Given the description of an element on the screen output the (x, y) to click on. 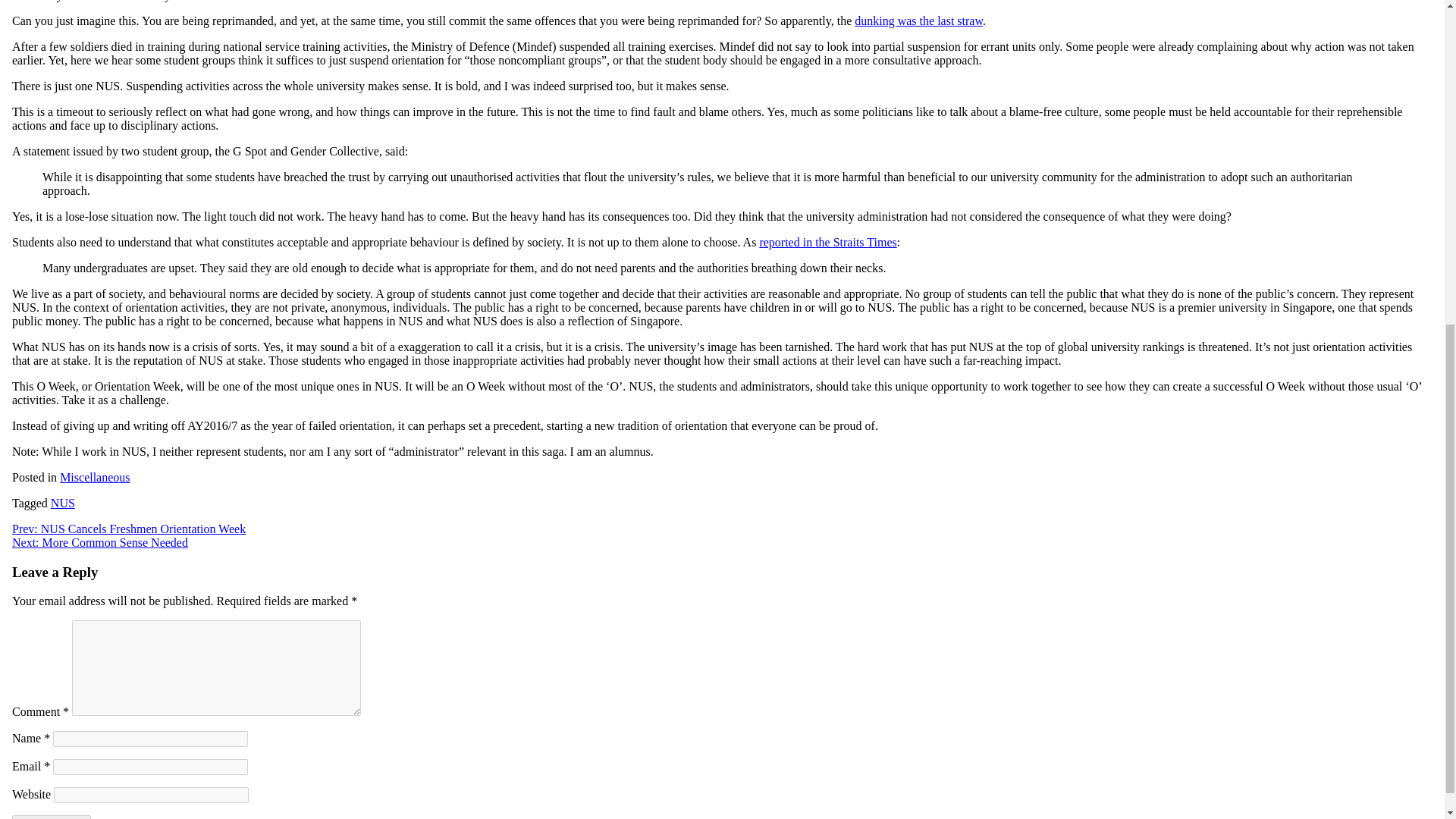
NUS (62, 502)
Next: More Common Sense Needed (99, 542)
dunking was the last straw (918, 20)
reported in the Straits Times (827, 241)
Prev: NUS Cancels Freshmen Orientation Week (128, 528)
Miscellaneous (94, 477)
